Given the description of an element on the screen output the (x, y) to click on. 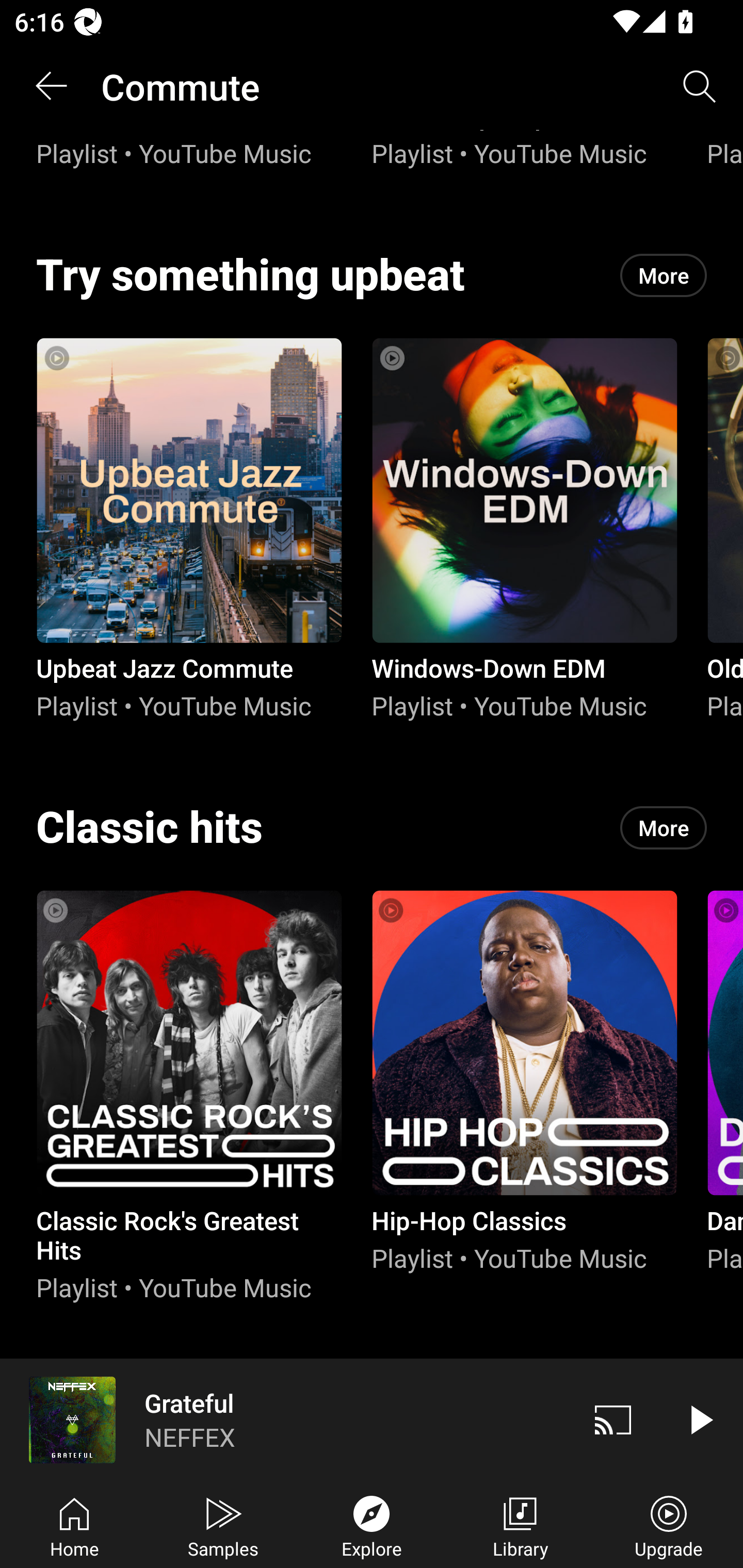
Back (50, 86)
Search (699, 86)
More (663, 275)
Classic hits Classic hits More More (371, 827)
More (663, 827)
Grateful NEFFEX (284, 1419)
Cast. Disconnected (612, 1419)
Play video (699, 1419)
Home (74, 1524)
Samples (222, 1524)
Library (519, 1524)
Upgrade (668, 1524)
